Given the description of an element on the screen output the (x, y) to click on. 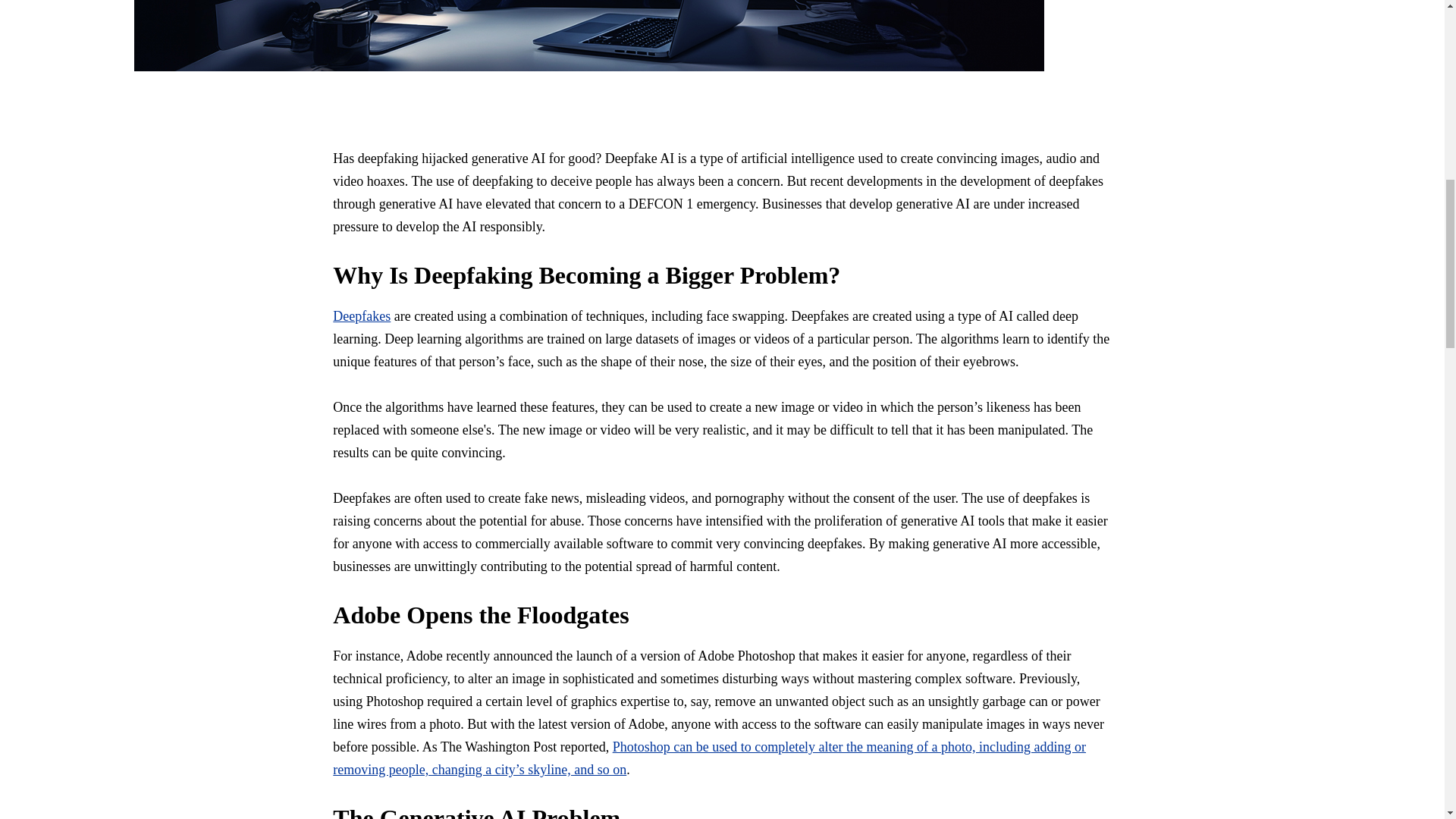
Deepfakes (361, 315)
